Given the description of an element on the screen output the (x, y) to click on. 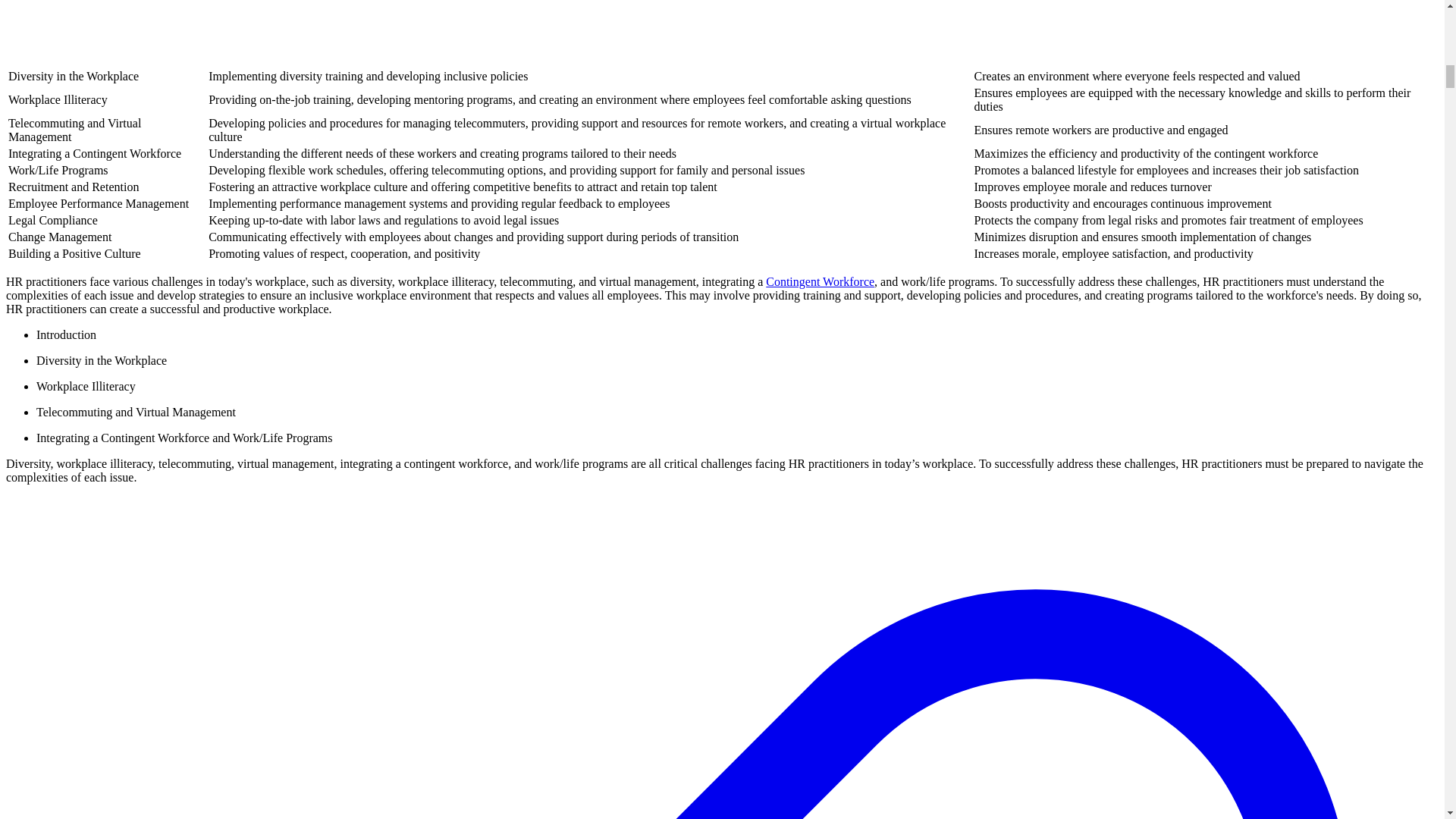
Contingent Workforce (820, 281)
